Given the description of an element on the screen output the (x, y) to click on. 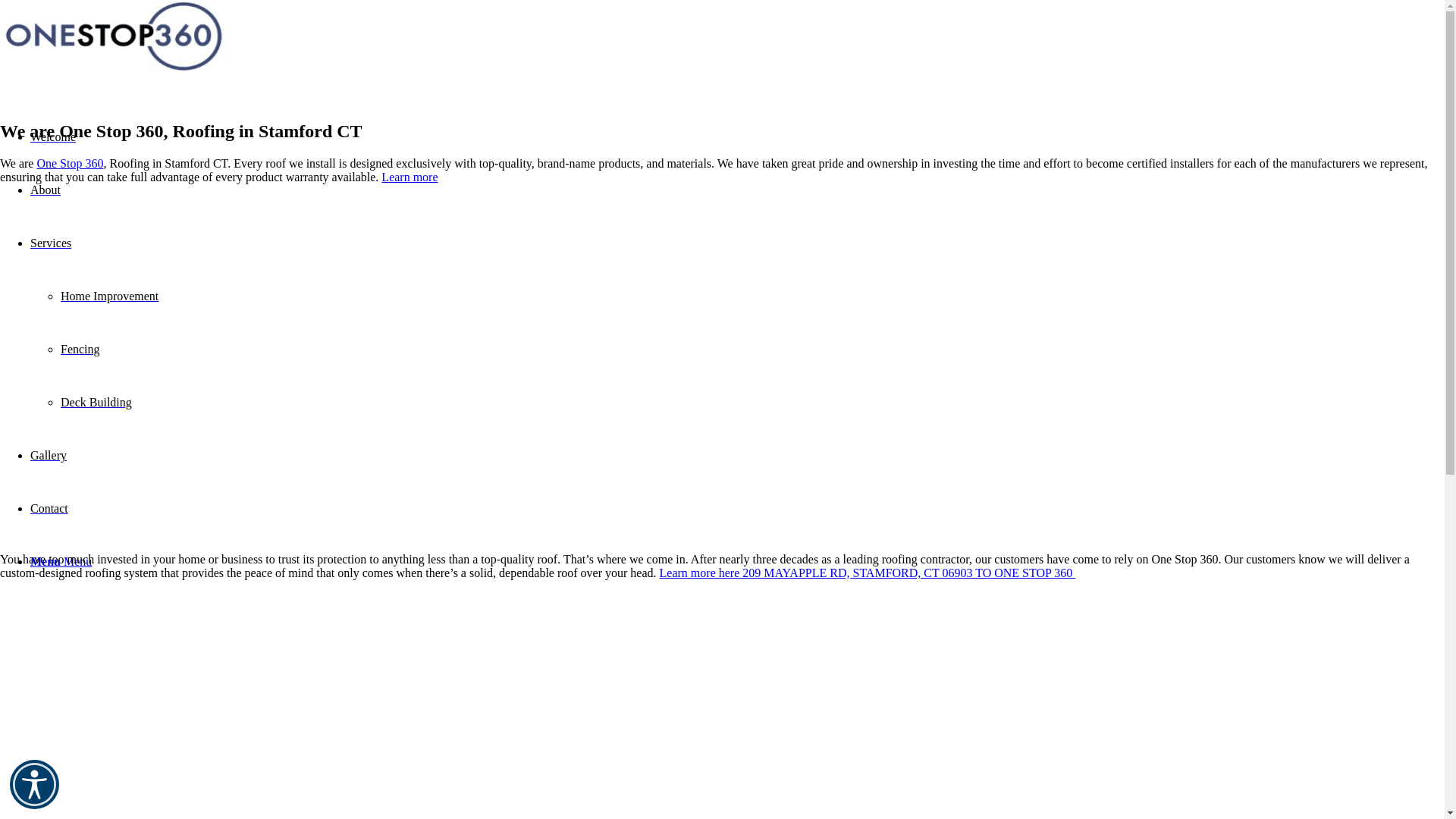
Menu Menu Element type: text (60, 561)
Services Element type: text (50, 242)
One Stop 360 Element type: text (69, 162)
Welcome Element type: text (52, 136)
79102064_984761358569844_5067555633931223040_n Element type: hover (113, 37)
Home Improvement Element type: text (109, 295)
Learn more Element type: text (409, 176)
Contact Element type: text (49, 508)
Gallery Element type: text (48, 454)
About Element type: text (45, 189)
Fencing Element type: text (80, 348)
Deck Building Element type: text (95, 401)
